Given the description of an element on the screen output the (x, y) to click on. 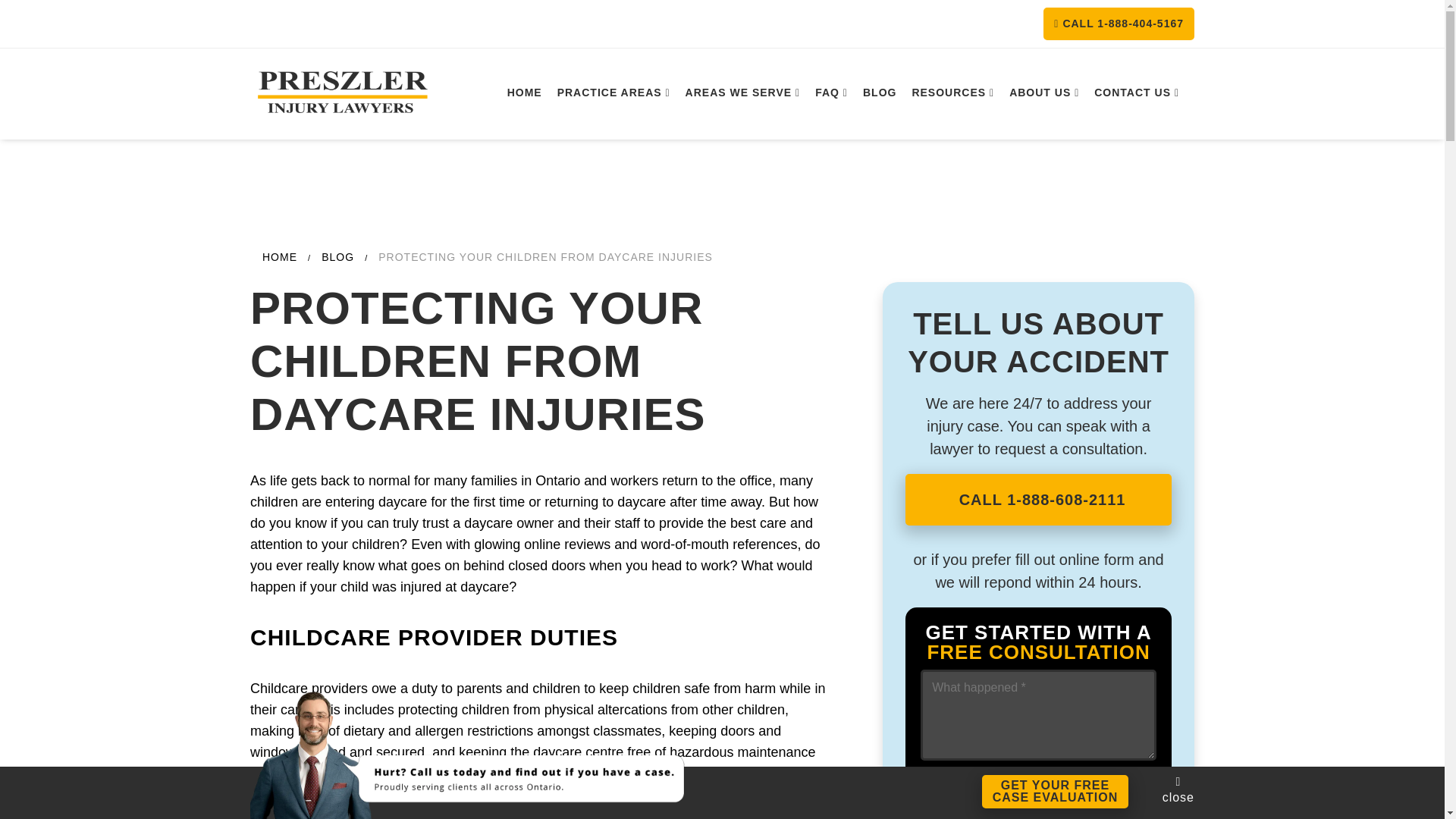
BLOG (1055, 791)
AREAS WE SERVE (880, 92)
PRACTICE AREAS (743, 92)
CONTACT US (614, 92)
close (1136, 92)
CALL 1-888-404-5167 (1177, 789)
RESOURCES (1118, 23)
ABOUT US (952, 92)
HOME (1043, 92)
FAQ (524, 92)
